Given the description of an element on the screen output the (x, y) to click on. 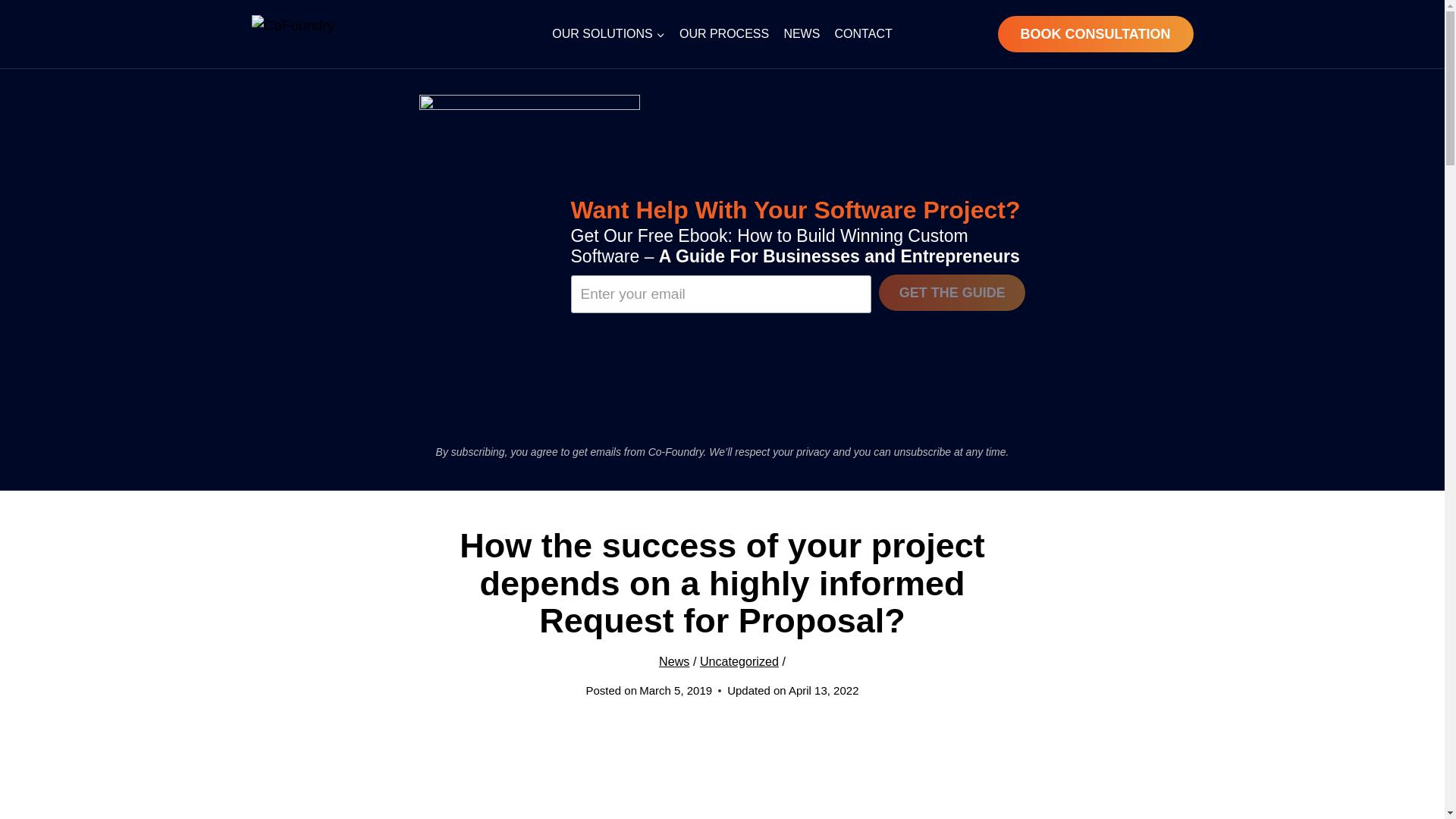
OUR PROCESS (723, 33)
OUR SOLUTIONS (608, 33)
News (673, 661)
CONTACT (863, 33)
BOOK CONSULTATION (1095, 33)
Uncategorized (739, 661)
GET THE GUIDE (952, 292)
NEWS (801, 33)
